Given the description of an element on the screen output the (x, y) to click on. 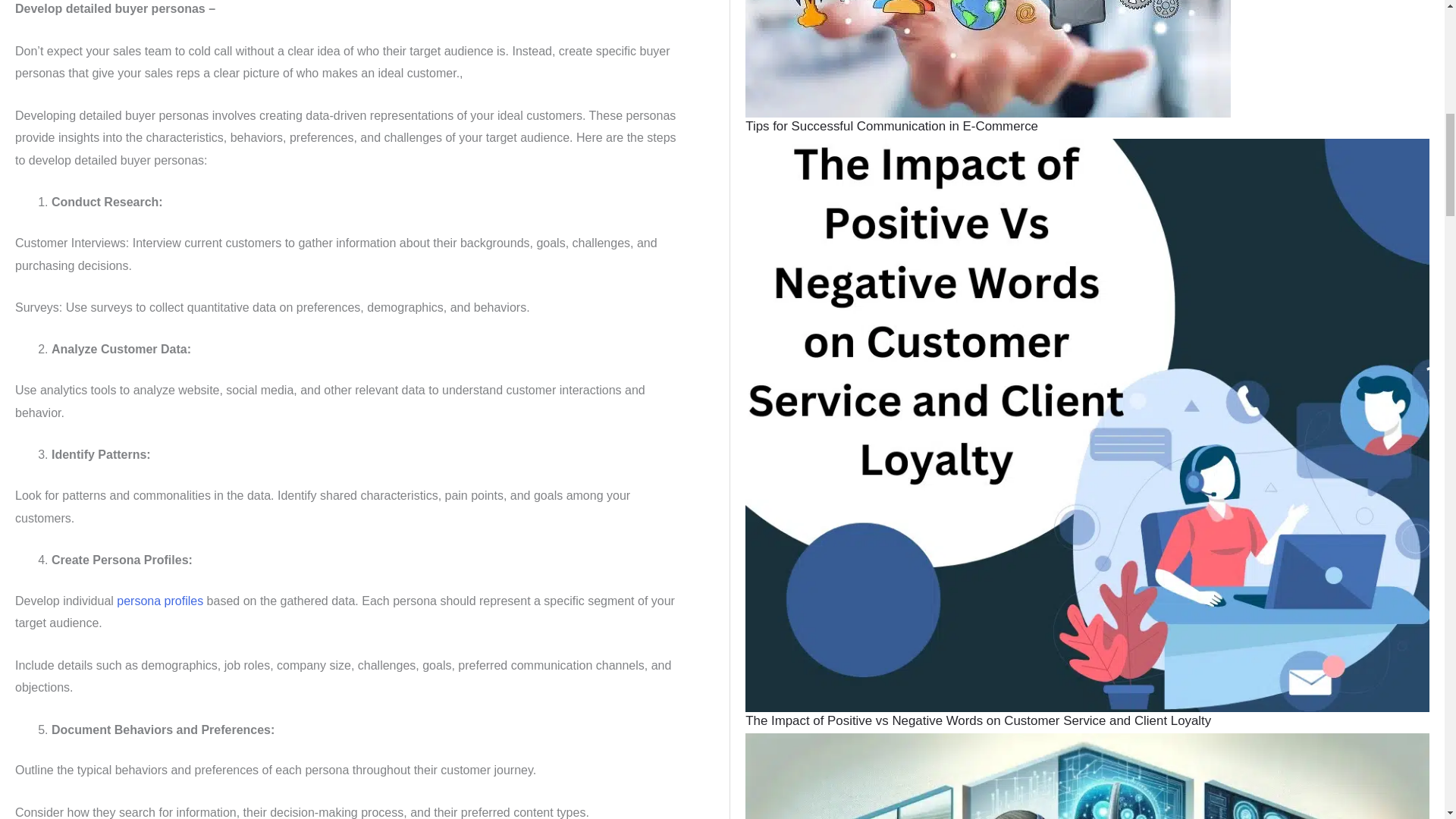
persona profiles (159, 600)
